Given the description of an element on the screen output the (x, y) to click on. 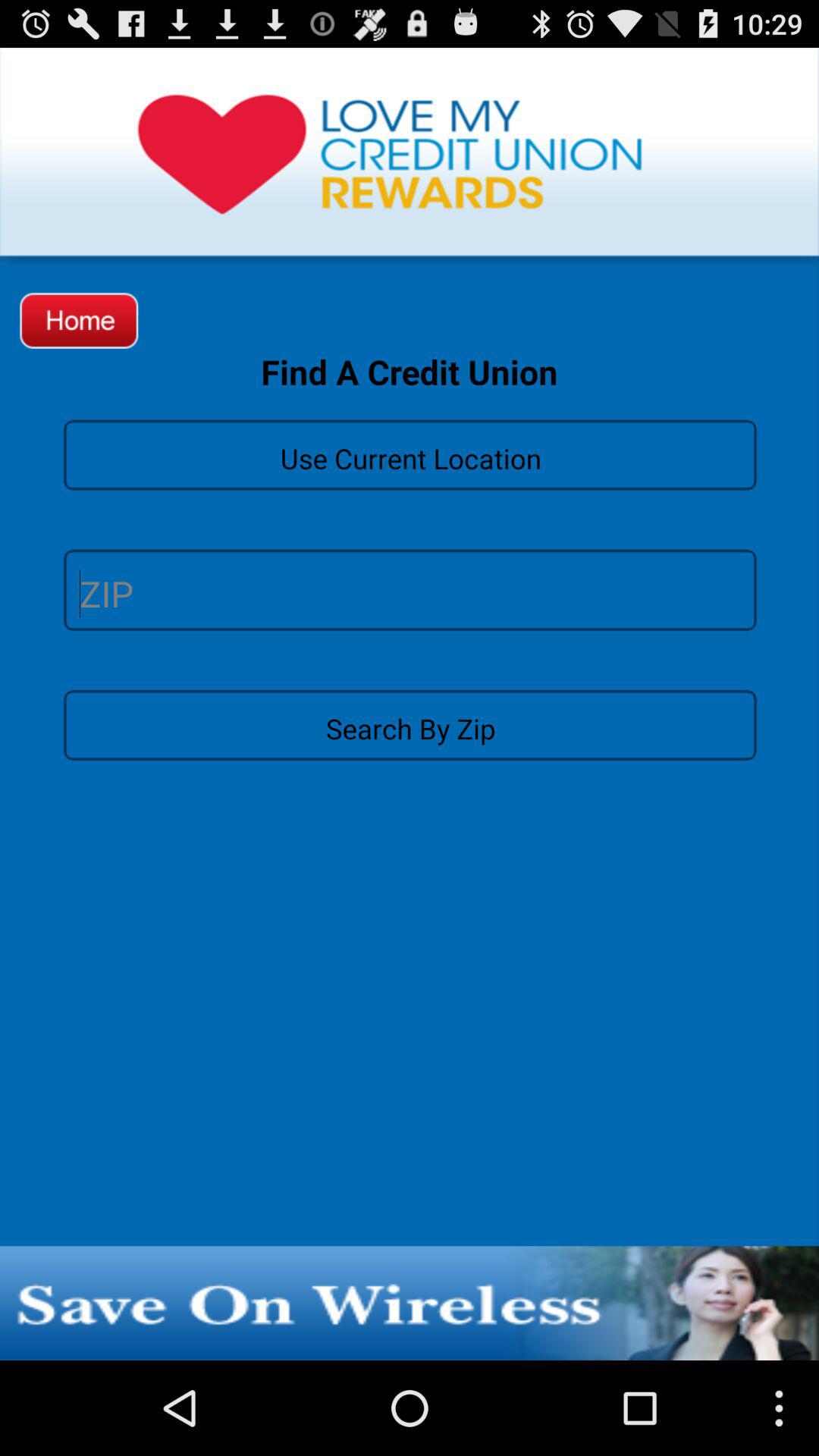
launch the icon next to the find a credit icon (78, 320)
